Given the description of an element on the screen output the (x, y) to click on. 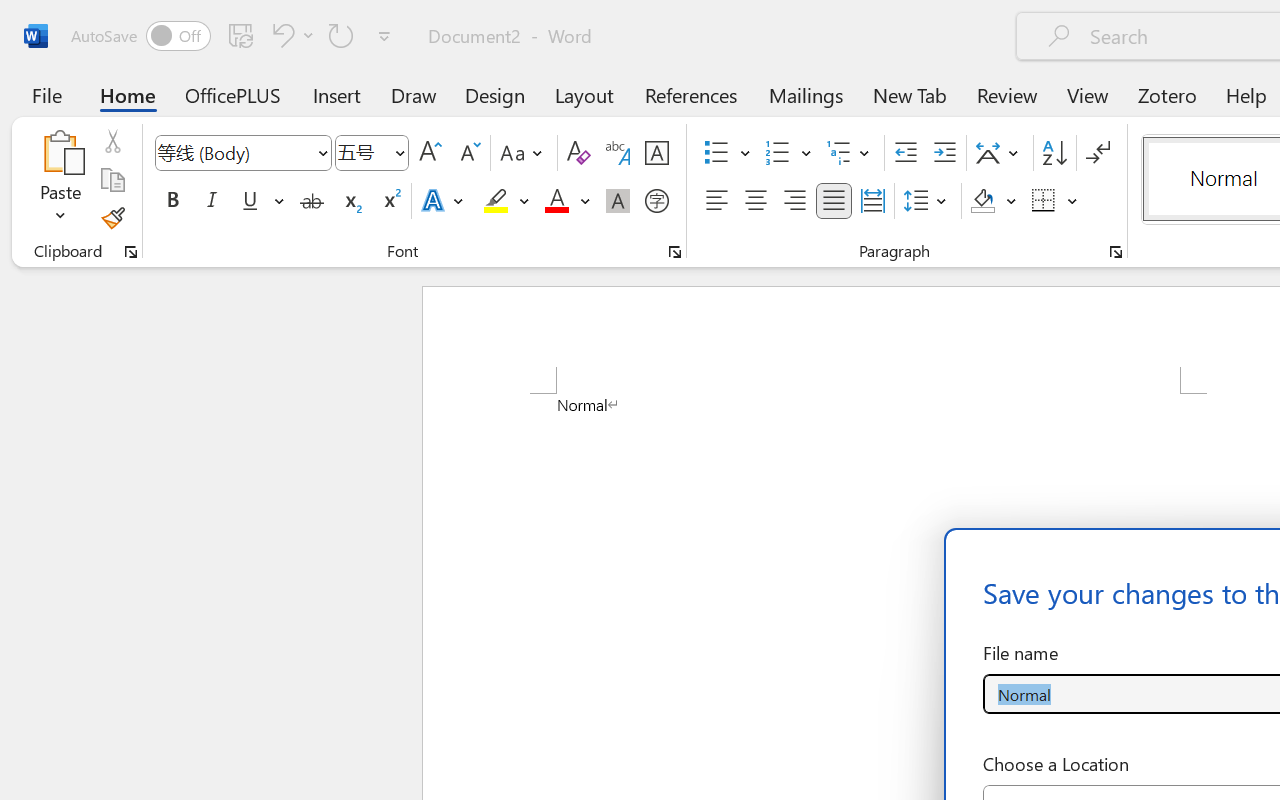
Distributed (872, 201)
Open (399, 152)
Shading (993, 201)
Font Color Red (556, 201)
Character Shading (618, 201)
File Tab (46, 94)
Review (1007, 94)
Zotero (1166, 94)
Paragraph... (1115, 252)
Numbering (778, 153)
Line and Paragraph Spacing (927, 201)
Cut (112, 141)
Bold (172, 201)
